Given the description of an element on the screen output the (x, y) to click on. 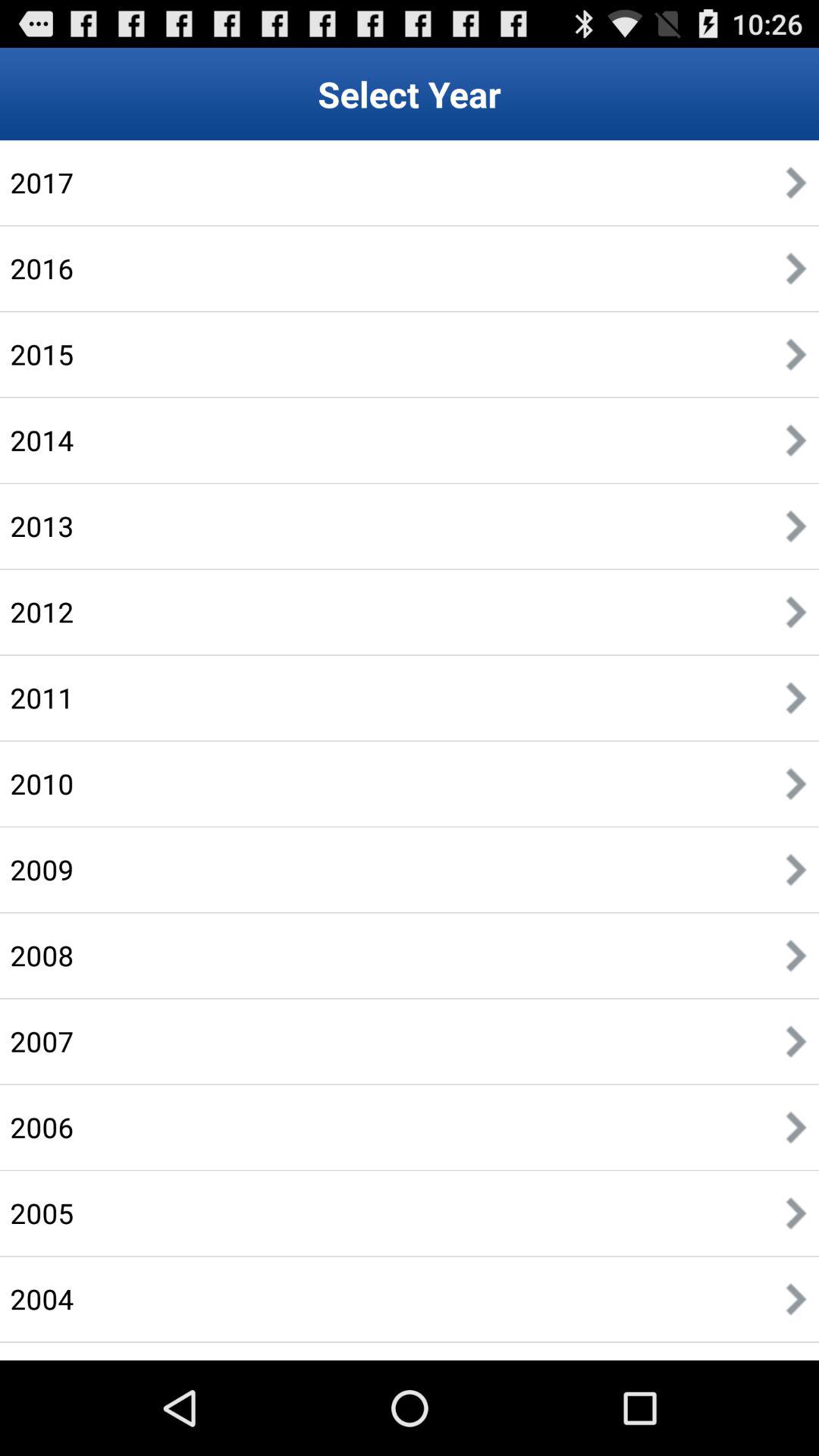
click on next page icon right to 2004 (796, 1299)
